Given the description of an element on the screen output the (x, y) to click on. 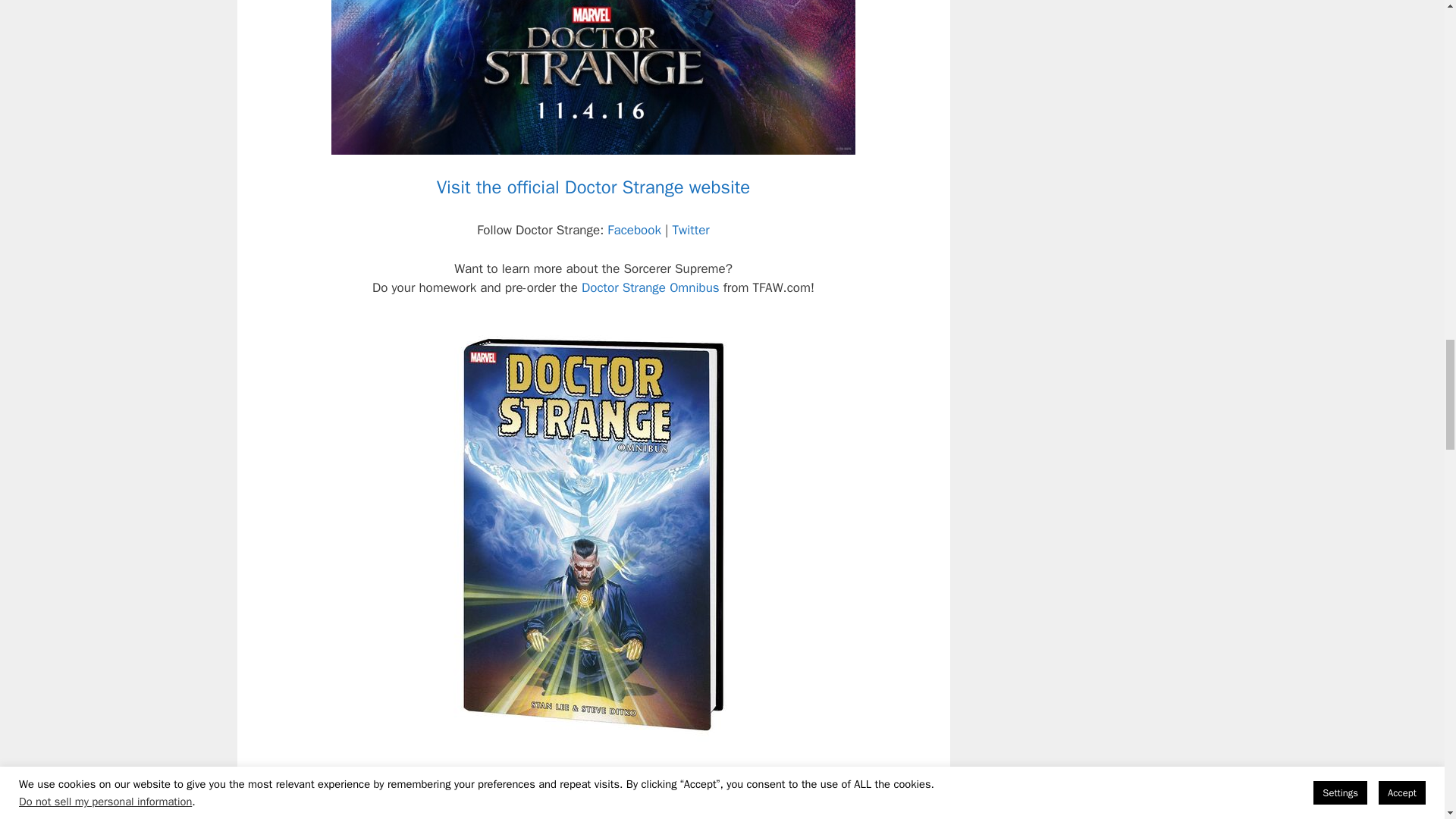
Doctor Strange Omnibus (649, 287)
1 (761, 784)
Visit the official Doctor Strange website (593, 187)
Twitter (691, 229)
Facebook (634, 229)
